Given the description of an element on the screen output the (x, y) to click on. 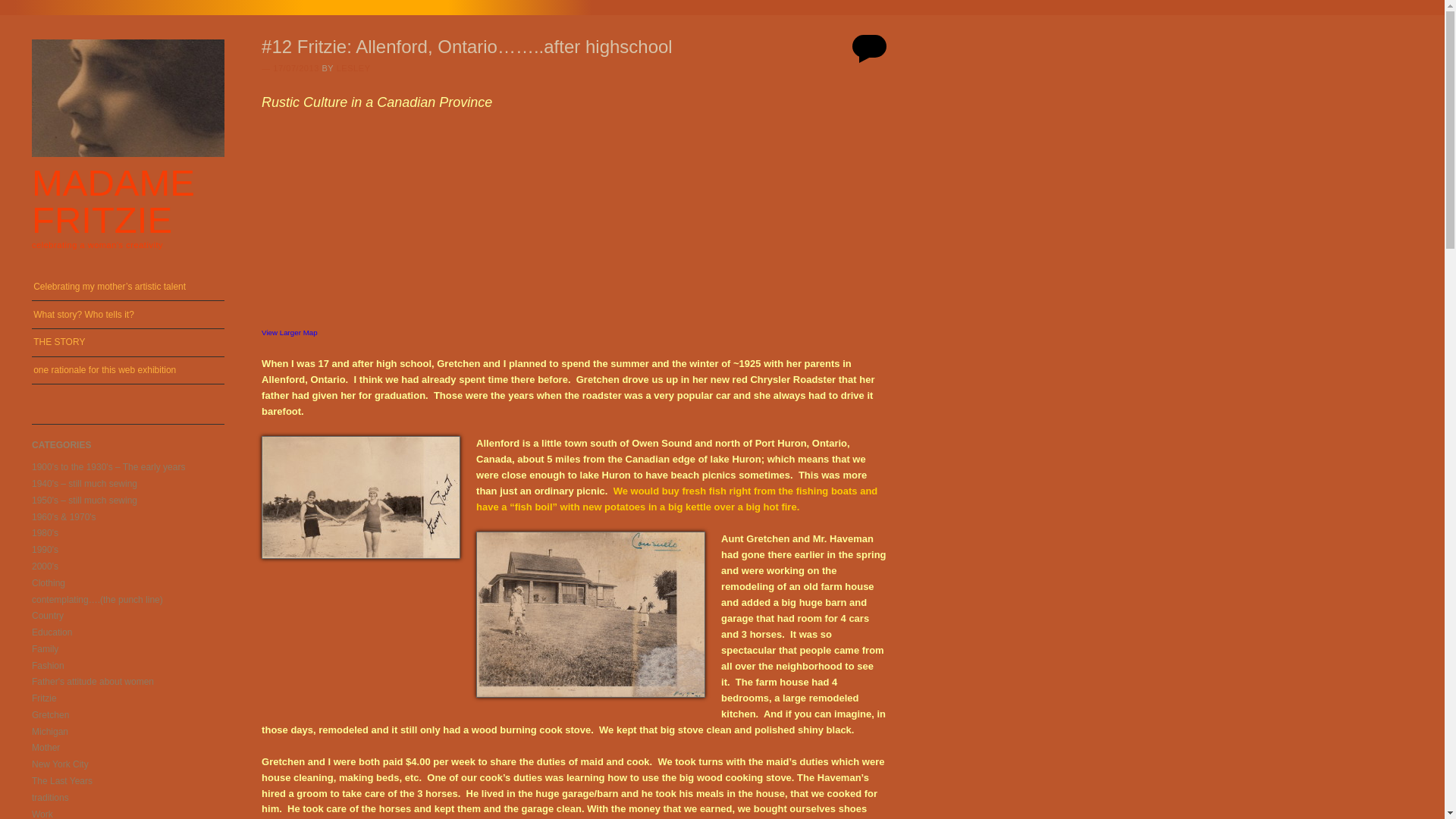
1990's (45, 549)
Father's attitude about women (93, 681)
Work (42, 813)
Fashion (48, 665)
Mother (45, 747)
Gretchen (50, 715)
Madame Fritzie (113, 201)
Family (45, 648)
What story? Who tells it? (128, 314)
Skip to content (61, 280)
